Given the description of an element on the screen output the (x, y) to click on. 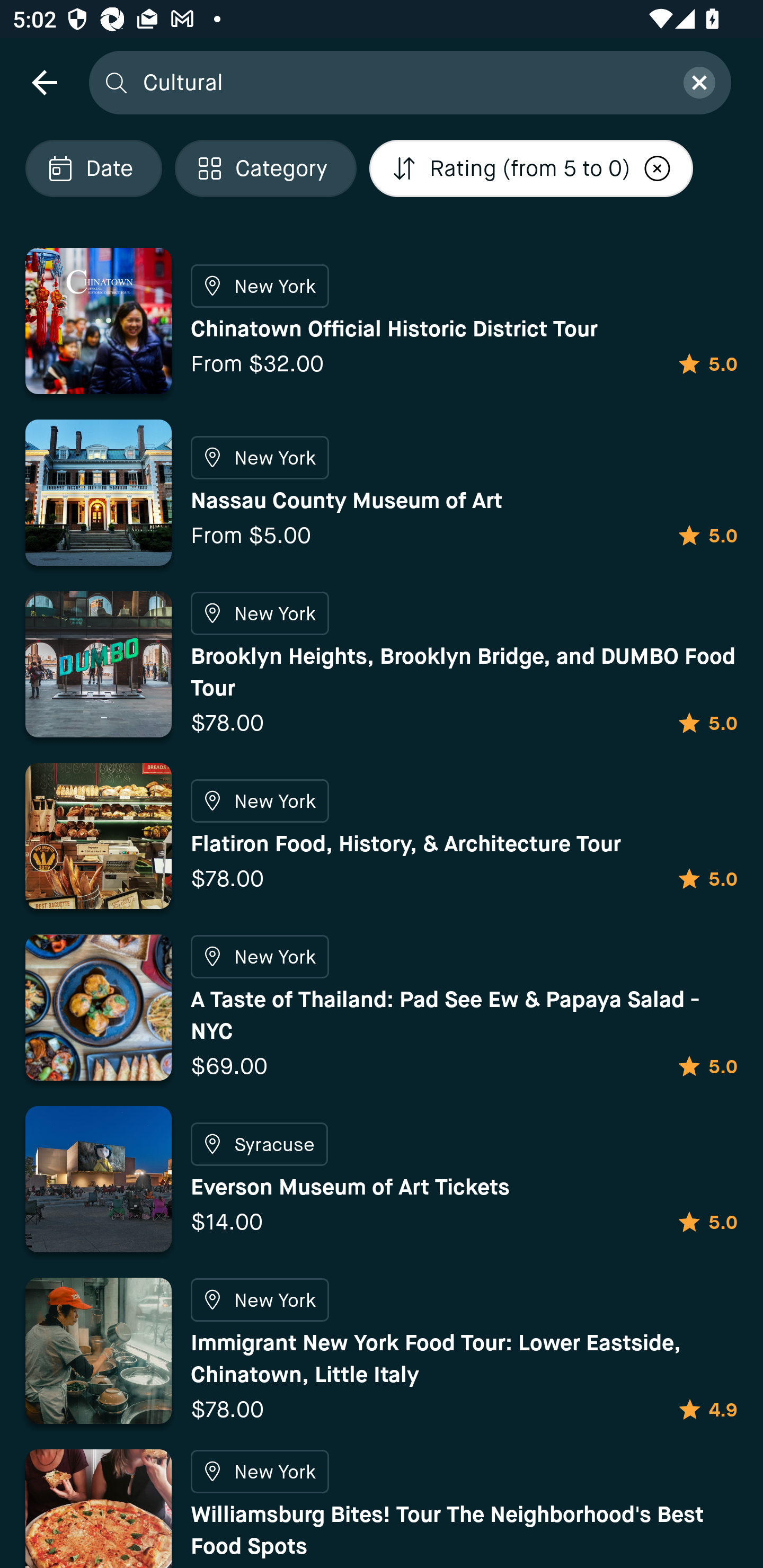
navigation icon (44, 81)
Cultural (402, 81)
Localized description Date (93, 168)
Localized description Category (265, 168)
Localized description (657, 168)
